Given the description of an element on the screen output the (x, y) to click on. 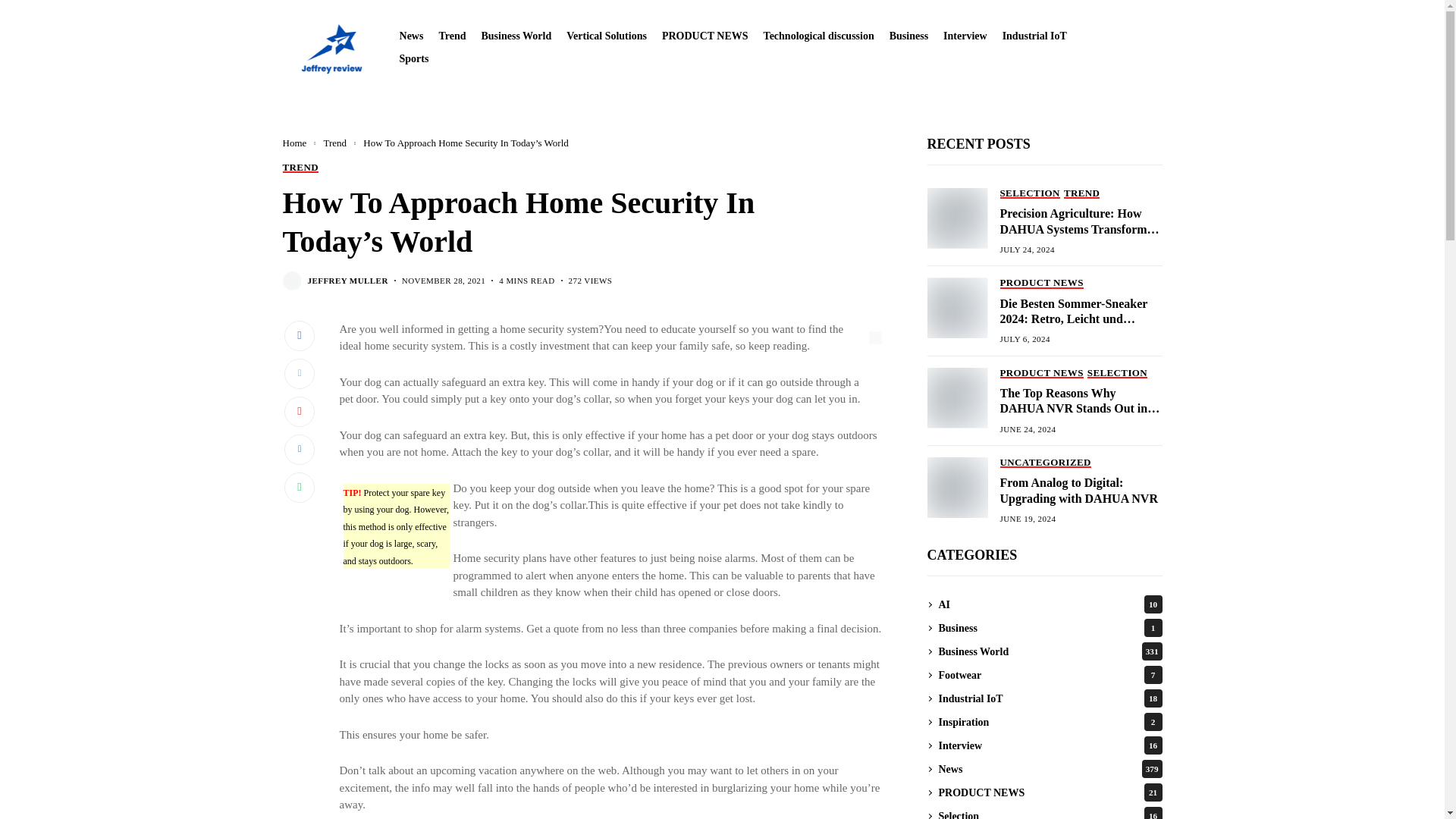
Business (908, 35)
News (410, 35)
PRODUCT NEWS (705, 35)
Precision Agriculture: How DAHUA Systems Transform Farming (956, 217)
Posts by Jeffrey Muller (347, 280)
Technological discussion (818, 35)
From Analog to Digital: Upgrading with DAHUA NVR (956, 487)
Die Besten Sommer-Sneaker 2024: Retro, Leicht und Stilvoll (956, 307)
Sports (413, 58)
Interview (965, 35)
